Given the description of an element on the screen output the (x, y) to click on. 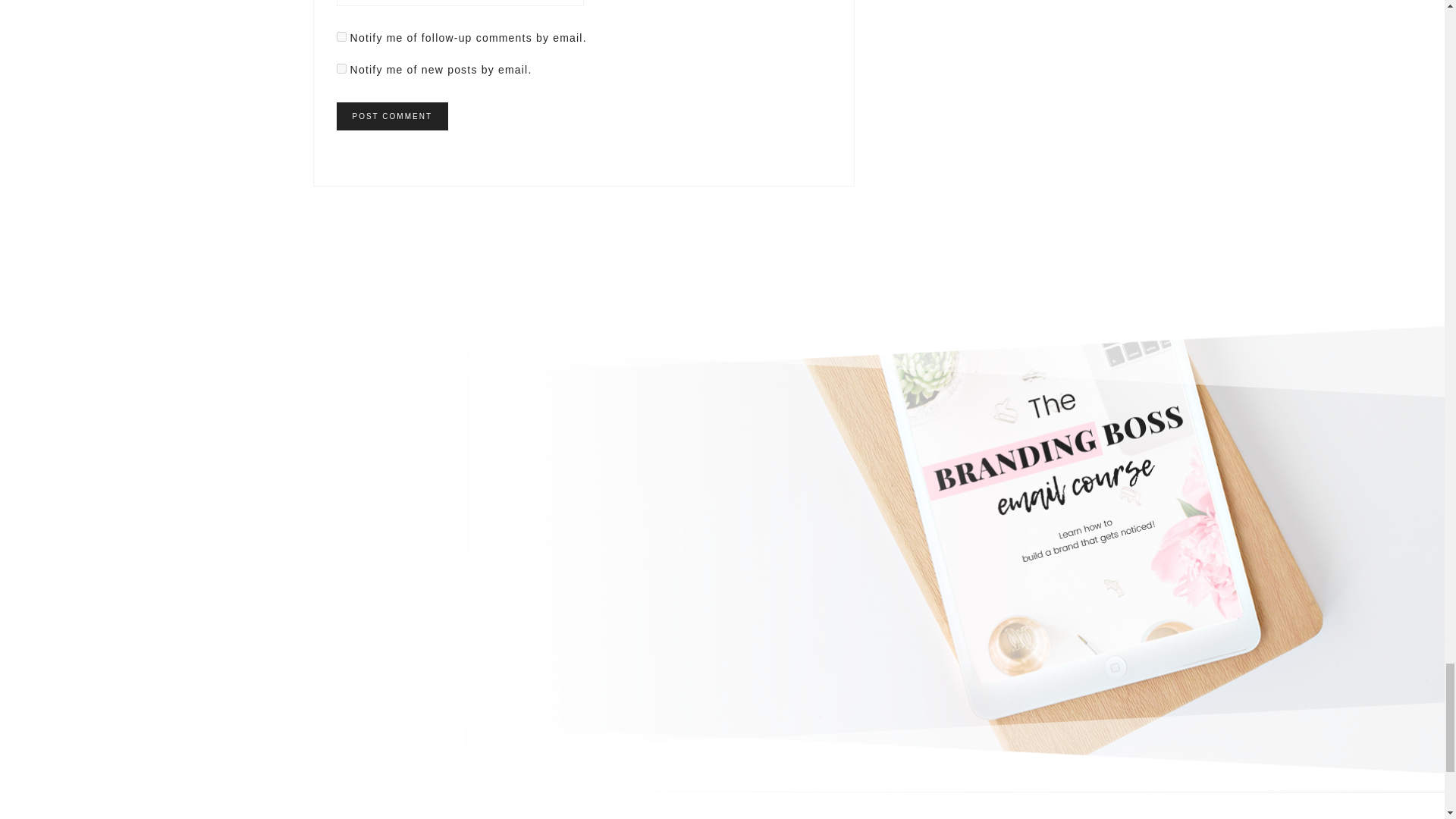
Post Comment (392, 116)
Post Comment (392, 116)
subscribe (341, 68)
subscribe (341, 36)
